Given the description of an element on the screen output the (x, y) to click on. 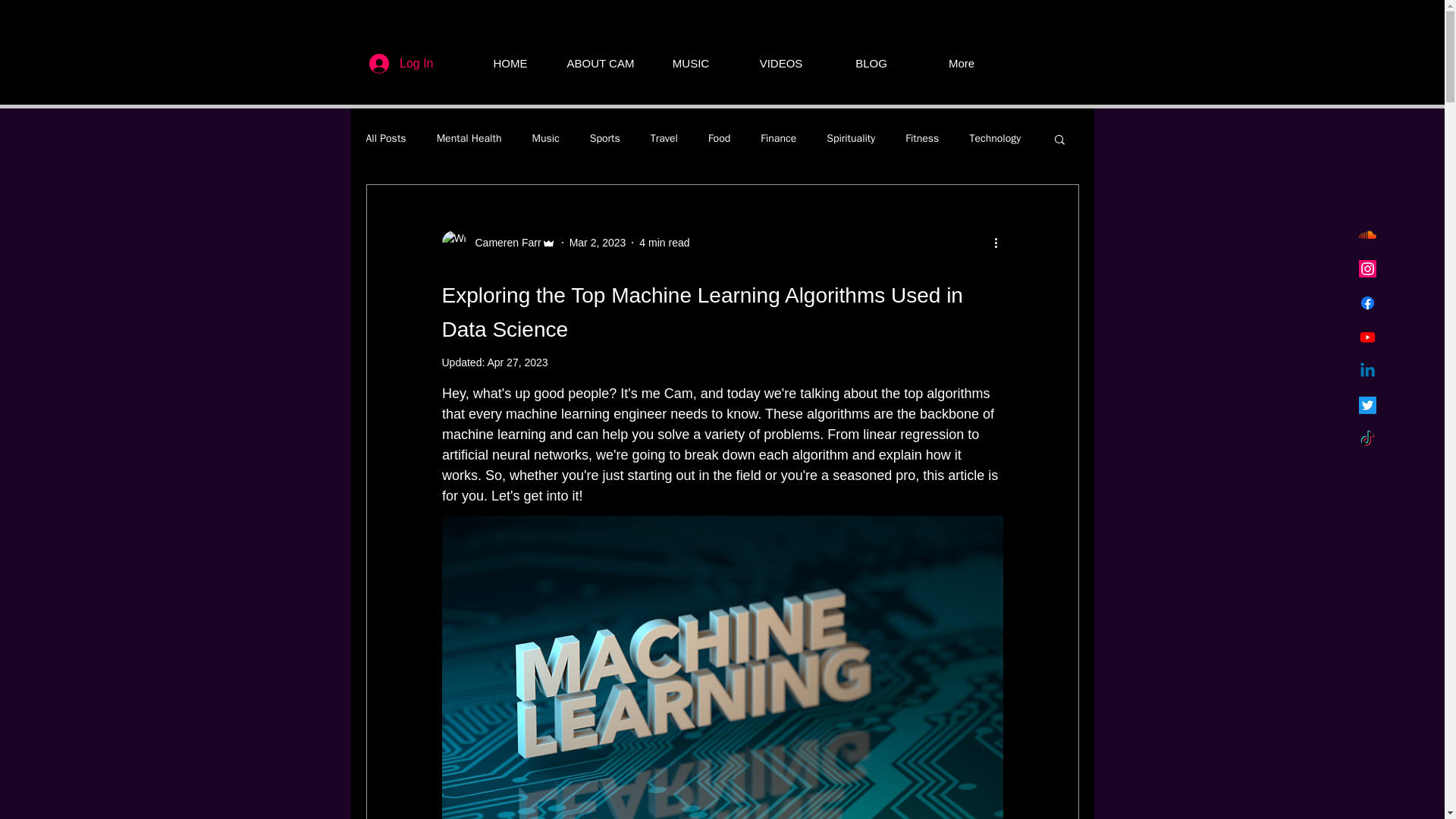
Fitness (922, 138)
VIDEOS (780, 63)
Sports (604, 138)
Cameren Farr (497, 242)
HOME (510, 63)
Music (545, 138)
Cameren Farr (502, 242)
Spirituality (851, 138)
ABOUT CAM (599, 63)
Log In (401, 63)
